Given the description of an element on the screen output the (x, y) to click on. 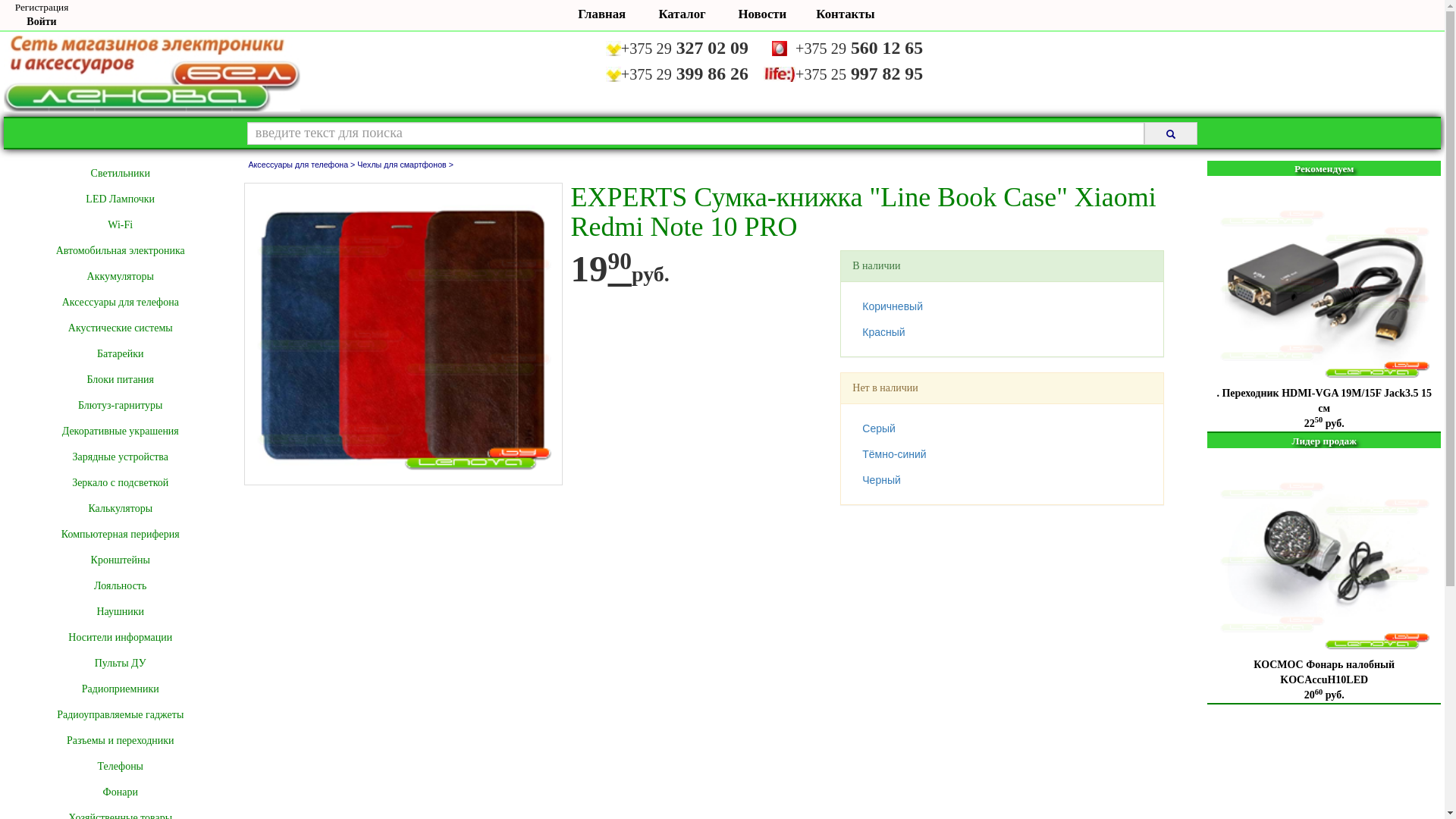
Wi-Fi Element type: text (119, 225)
